Given the description of an element on the screen output the (x, y) to click on. 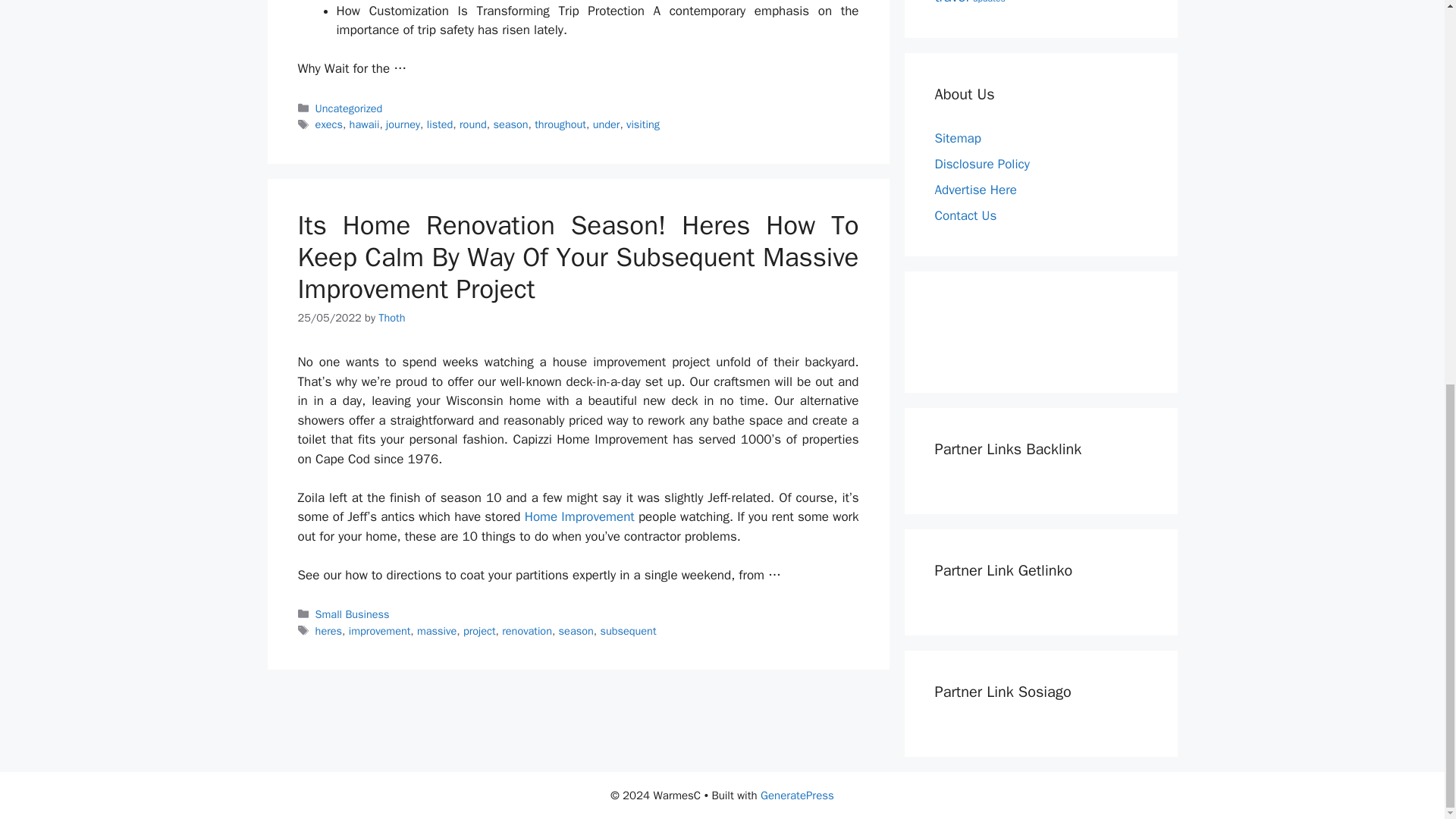
execs (328, 124)
renovation (526, 631)
season (576, 631)
listed (439, 124)
project (479, 631)
Small Business (352, 613)
View all posts by Thoth (391, 317)
journey (402, 124)
Thoth (391, 317)
subsequent (627, 631)
